Given the description of an element on the screen output the (x, y) to click on. 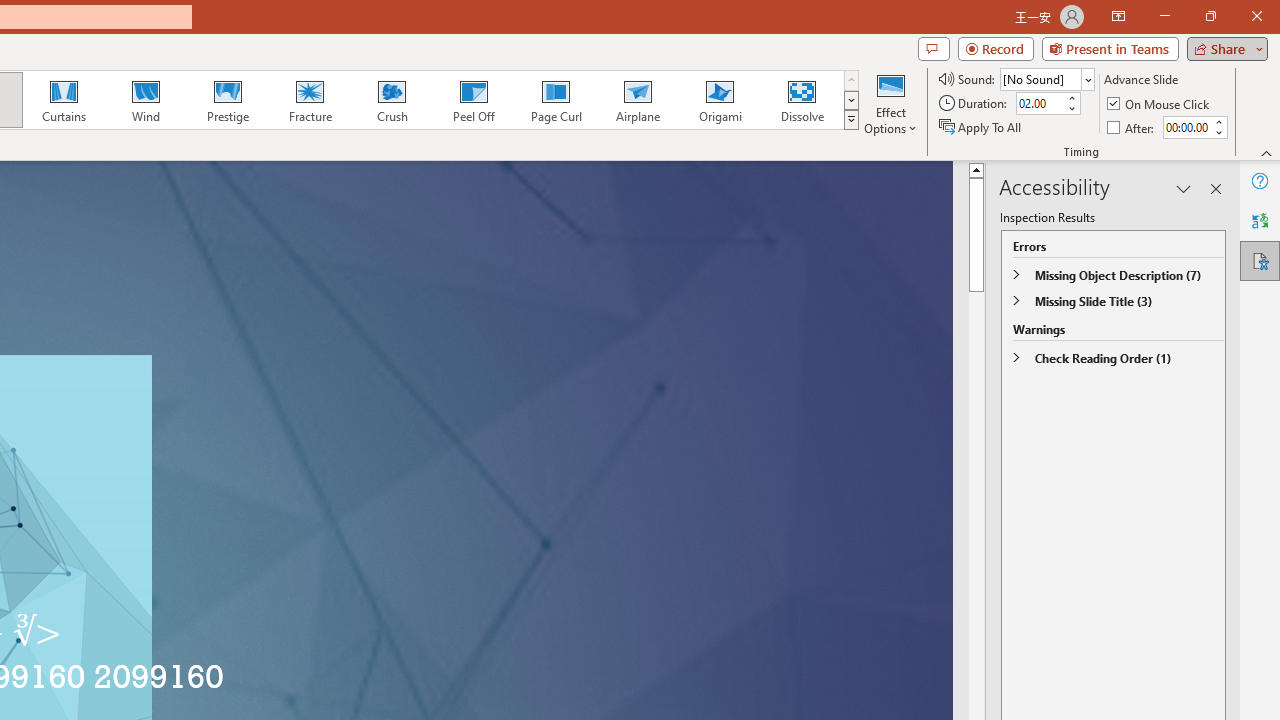
Wind (145, 100)
Crush (391, 100)
Sound (1046, 78)
